Given the description of an element on the screen output the (x, y) to click on. 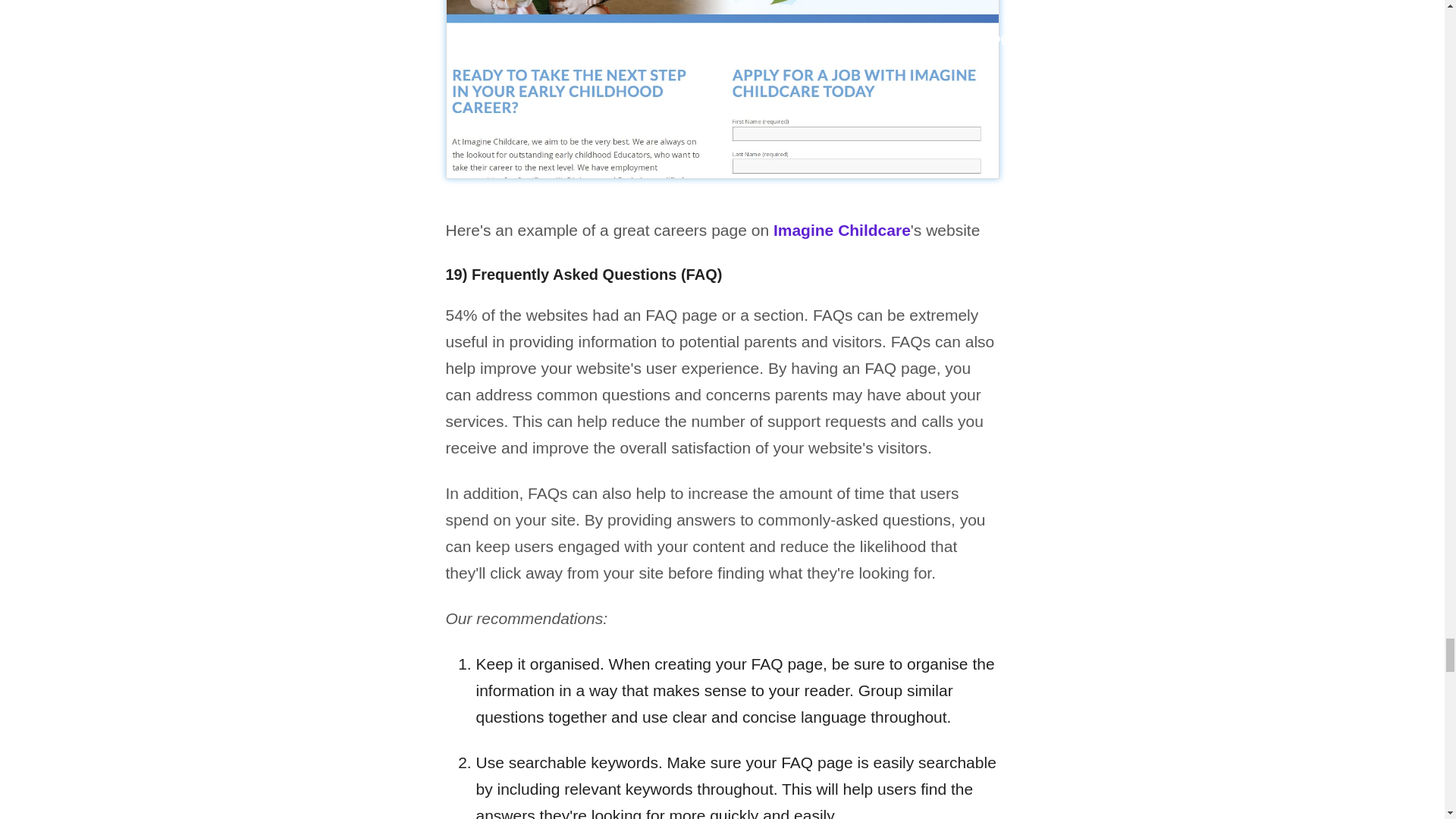
Imagine Childcare (842, 230)
